Given the description of an element on the screen output the (x, y) to click on. 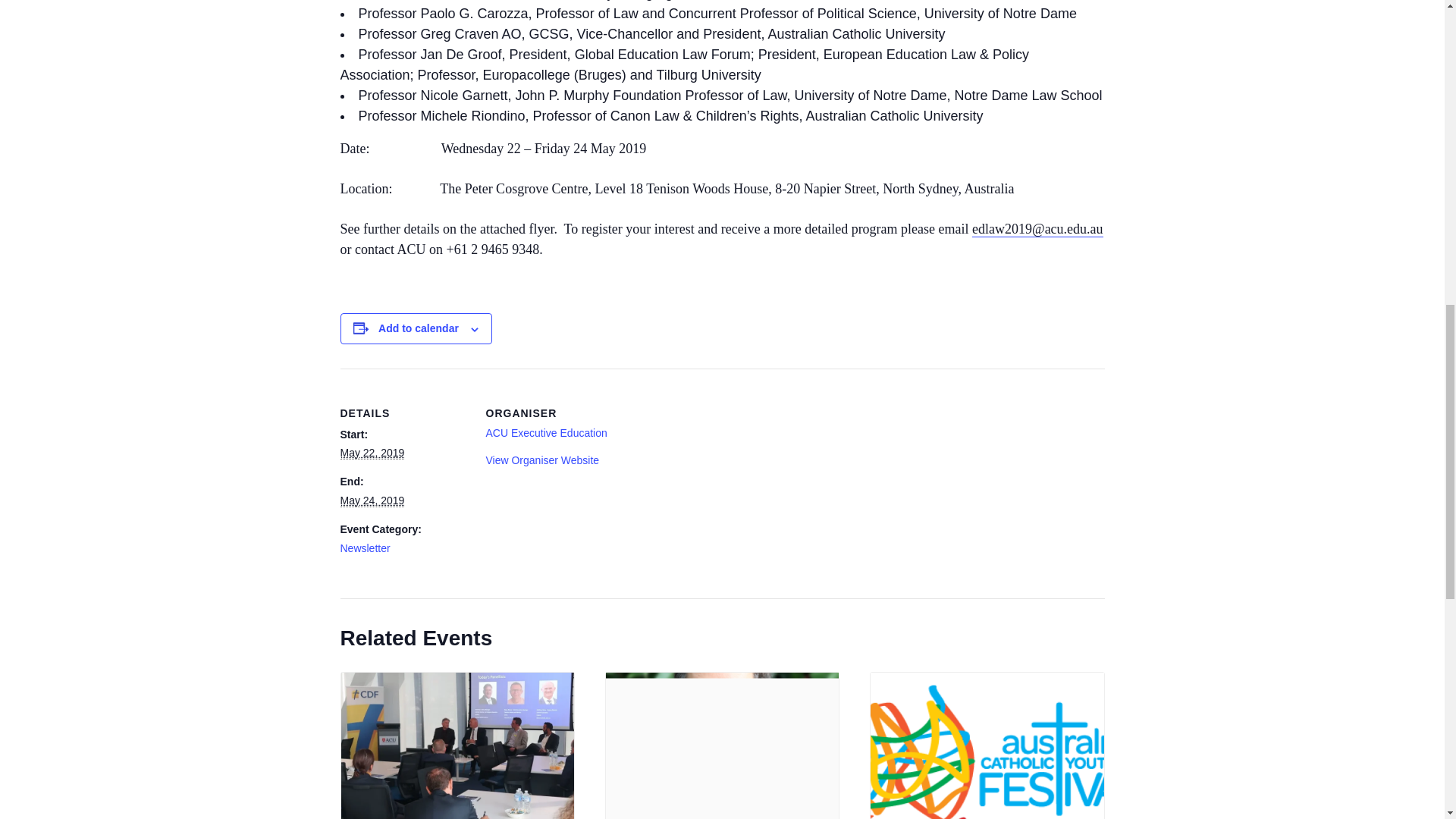
2019-05-22 (371, 452)
Add to calendar (418, 328)
ACU Executive Education (545, 432)
View Organiser Website (541, 459)
Newsletter (364, 547)
2019-05-24 (371, 500)
ACU Executive Education (545, 432)
